Given the description of an element on the screen output the (x, y) to click on. 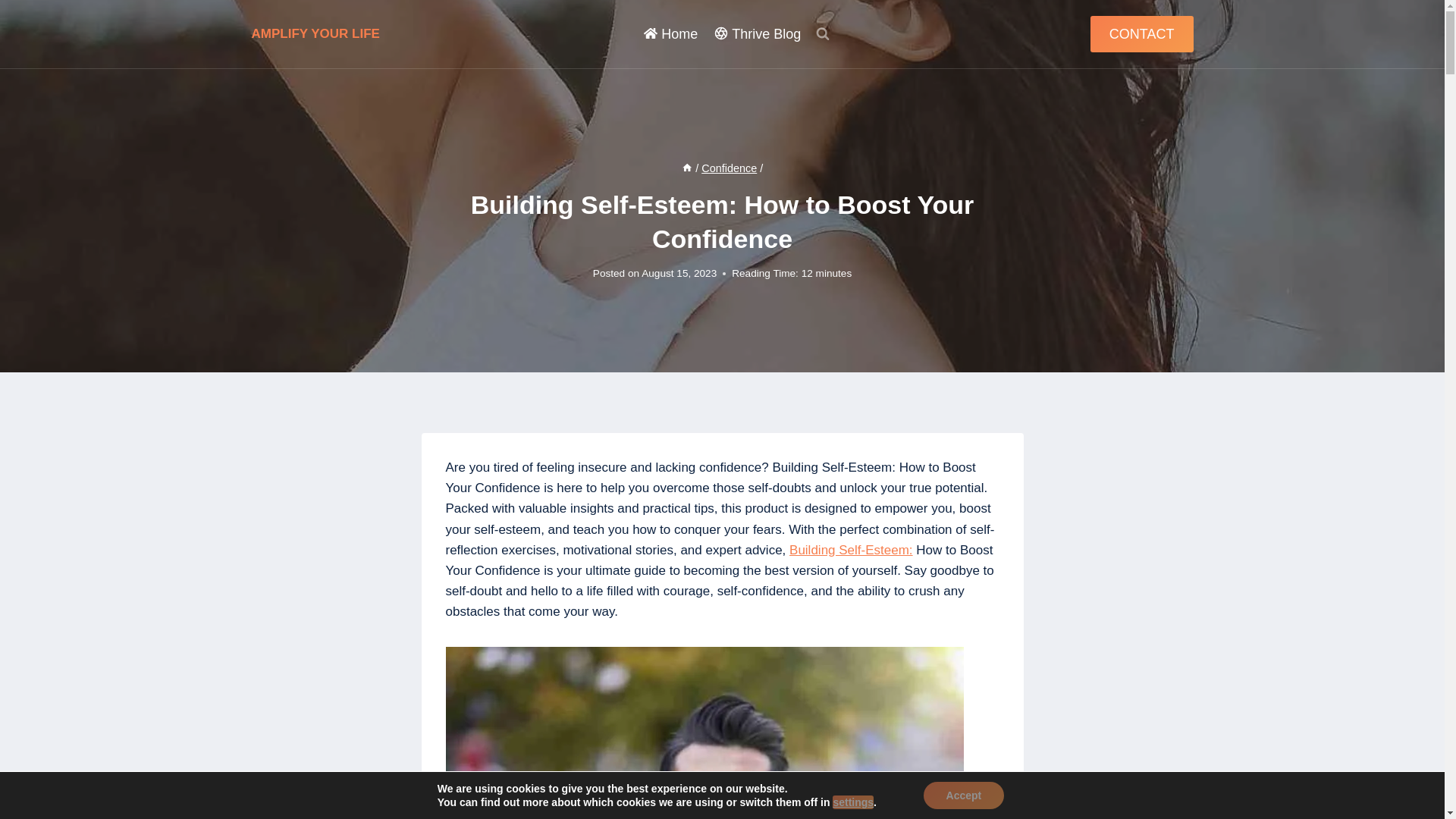
Confidence (729, 168)
AMPLIFY YOUR LIFE (315, 33)
CONTACT (1141, 34)
Building Self-Esteem: (850, 549)
Home (670, 34)
Building Self-Esteem: How to Boost Your Confidence (704, 732)
Thrive Blog (757, 34)
